Given the description of an element on the screen output the (x, y) to click on. 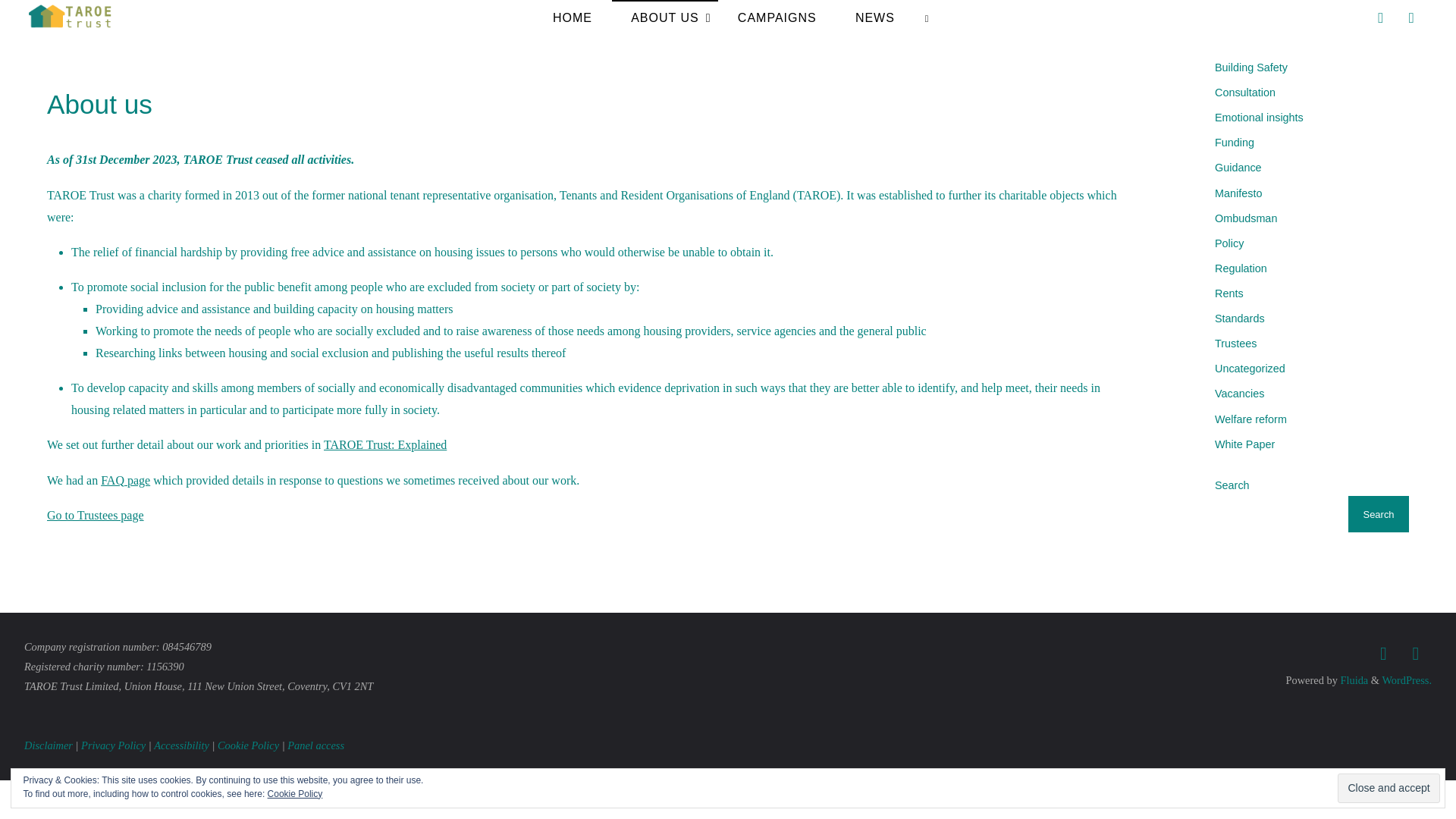
TAROE TRUST (146, 34)
Consultation (1244, 92)
Policy (1228, 243)
Standards (1239, 318)
Fluida WordPress Theme by Cryout Creations (1353, 680)
Welfare reform (1250, 419)
CAMPAIGNS (776, 17)
White Paper (1244, 444)
Manifesto (1238, 193)
TAROE Trust (72, 16)
